Given the description of an element on the screen output the (x, y) to click on. 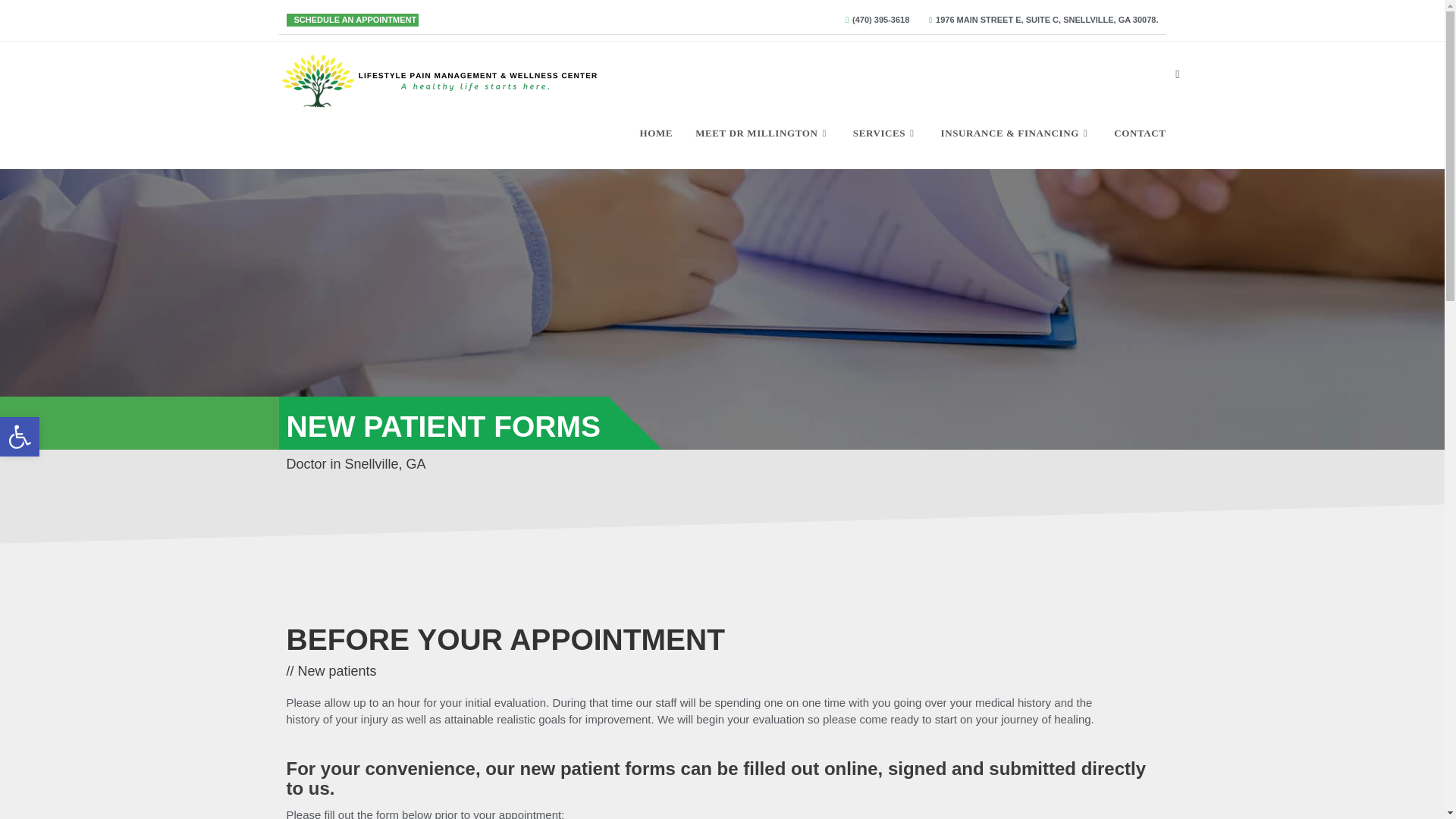
Open toolbar (19, 436)
Accessibility Tools (19, 436)
CONTACT (1139, 132)
1976 MAIN STREET E, SUITE C, SNELLVILLE, GA 30078. (1039, 19)
HOME (656, 132)
MEET DR MILLINGTON (762, 132)
SERVICES (885, 132)
SCHEDULE AN APPOINTMENT (351, 19)
